Given the description of an element on the screen output the (x, y) to click on. 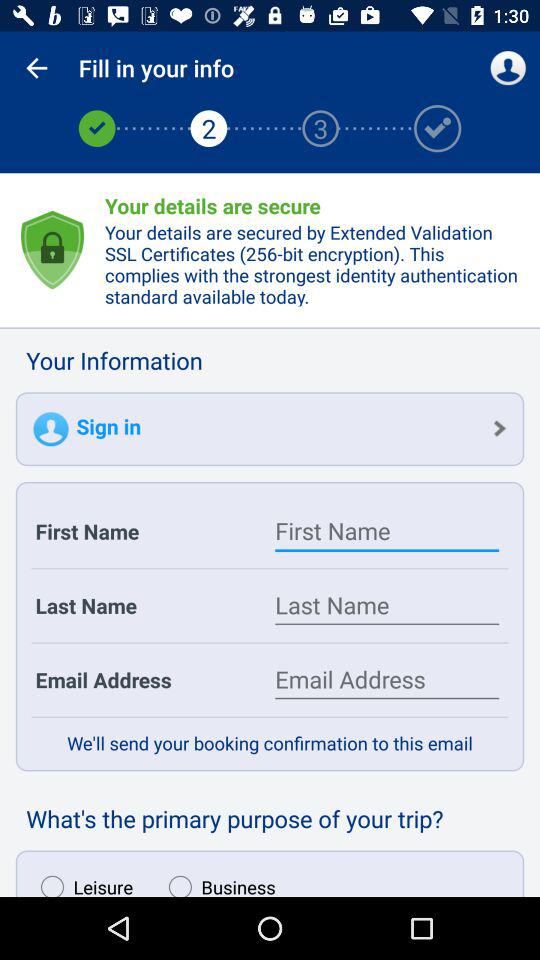
scroll until business (217, 881)
